Given the description of an element on the screen output the (x, y) to click on. 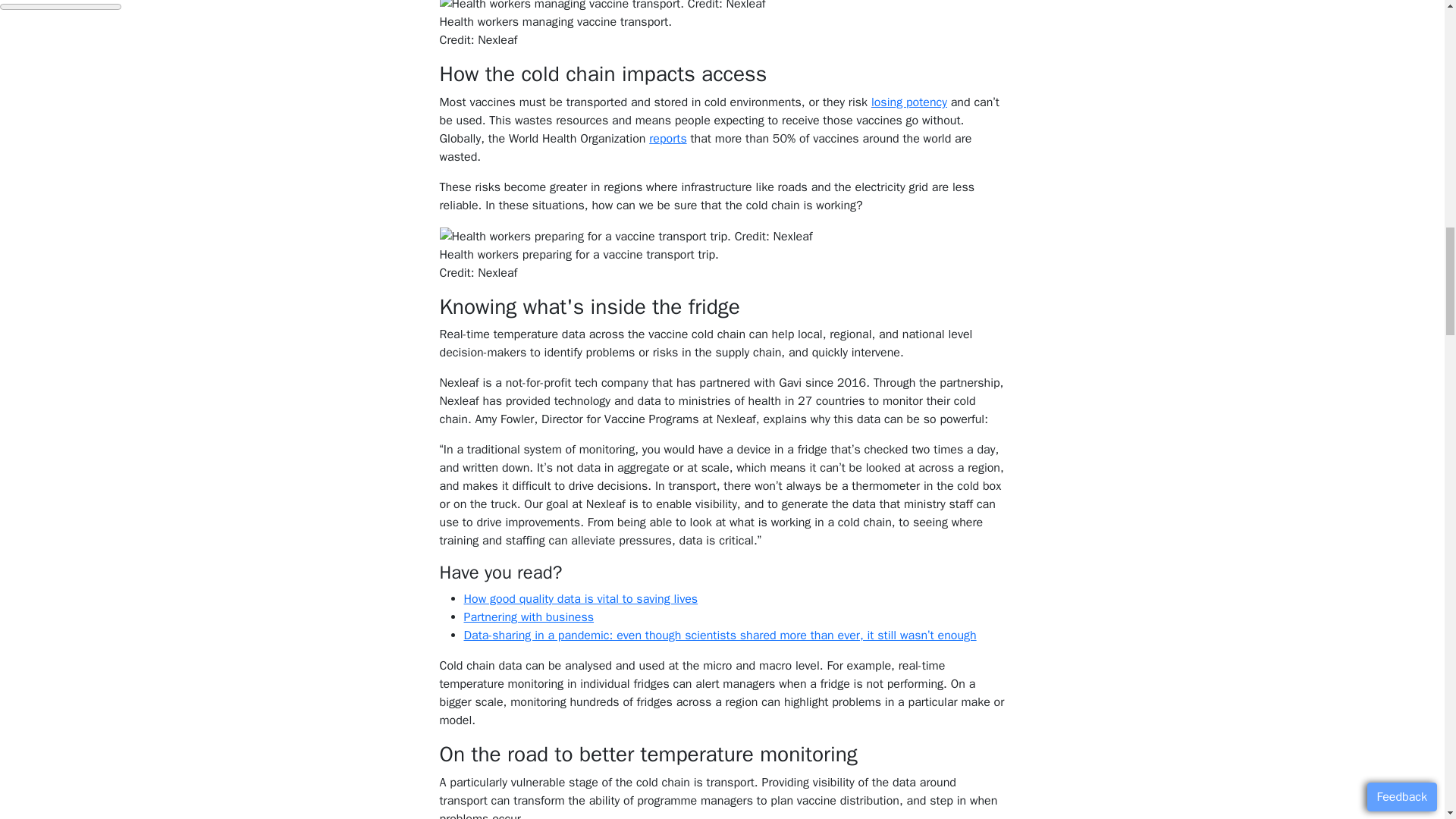
Partnering with business (529, 616)
How good quality data is vital to saving lives (581, 598)
losing potency (908, 102)
reports (668, 138)
Partnering with business (529, 616)
How good quality data is vital to saving lives (581, 598)
